Given the description of an element on the screen output the (x, y) to click on. 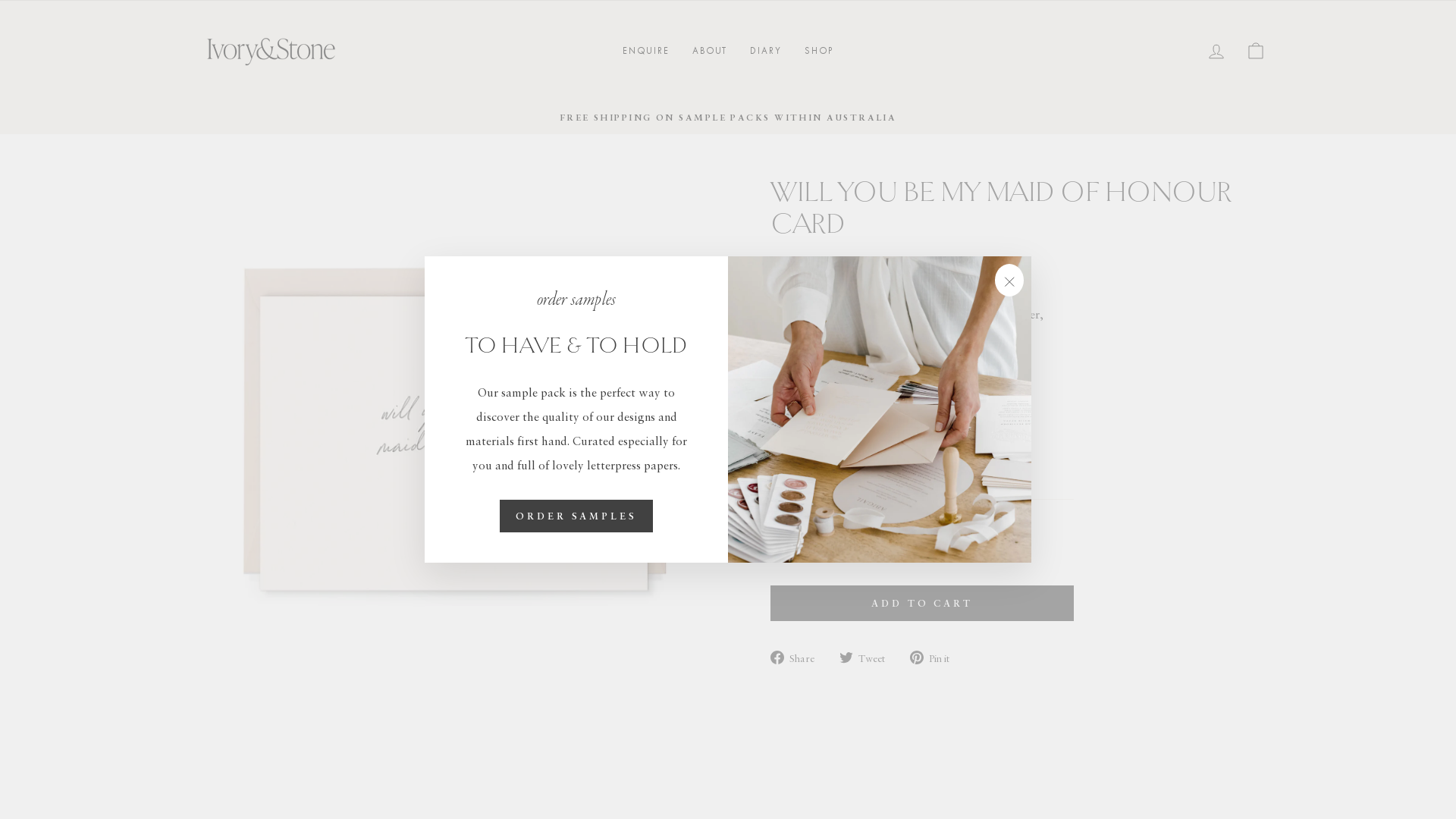
DIARY Element type: text (765, 50)
"Close (esc)" Element type: text (1008, 279)
CART Element type: text (1255, 50)
LOG IN Element type: text (1216, 50)
Share
Share on Facebook Element type: text (797, 655)
ENQUIRE Element type: text (645, 50)
ABOUT Element type: text (709, 50)
ADD TO CART Element type: text (921, 602)
Tweet
Tweet on Twitter Element type: text (867, 655)
ORDER SAMPLES Element type: text (575, 515)
Pin it
Pin on Pinterest Element type: text (935, 655)
SHOP Element type: text (818, 50)
FREE SHIPPING ON SAMPLE PACKS WITHIN AUSTRALIA Element type: text (727, 117)
